Given the description of an element on the screen output the (x, y) to click on. 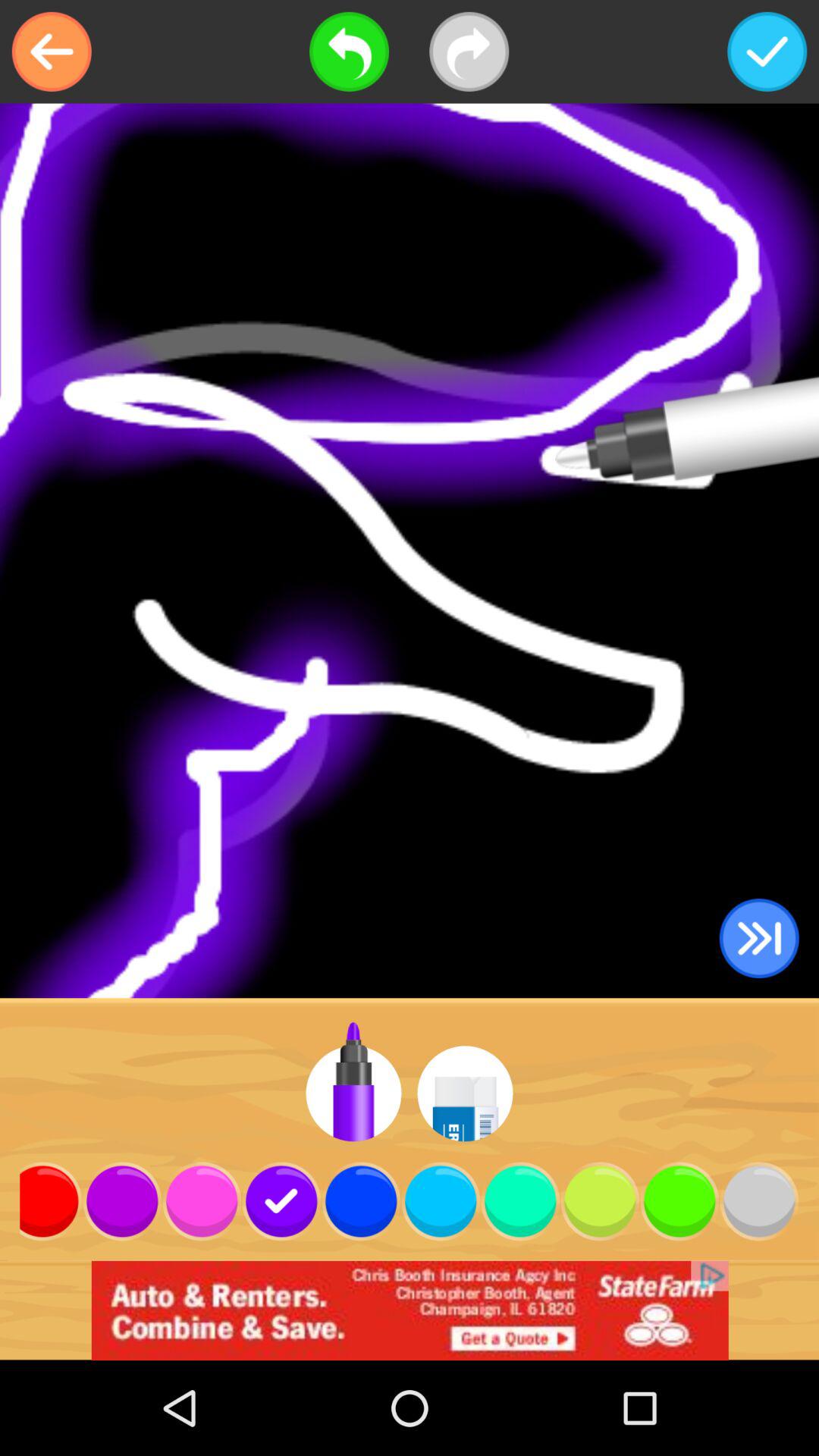
open icon at the top left corner (51, 51)
